Given the description of an element on the screen output the (x, y) to click on. 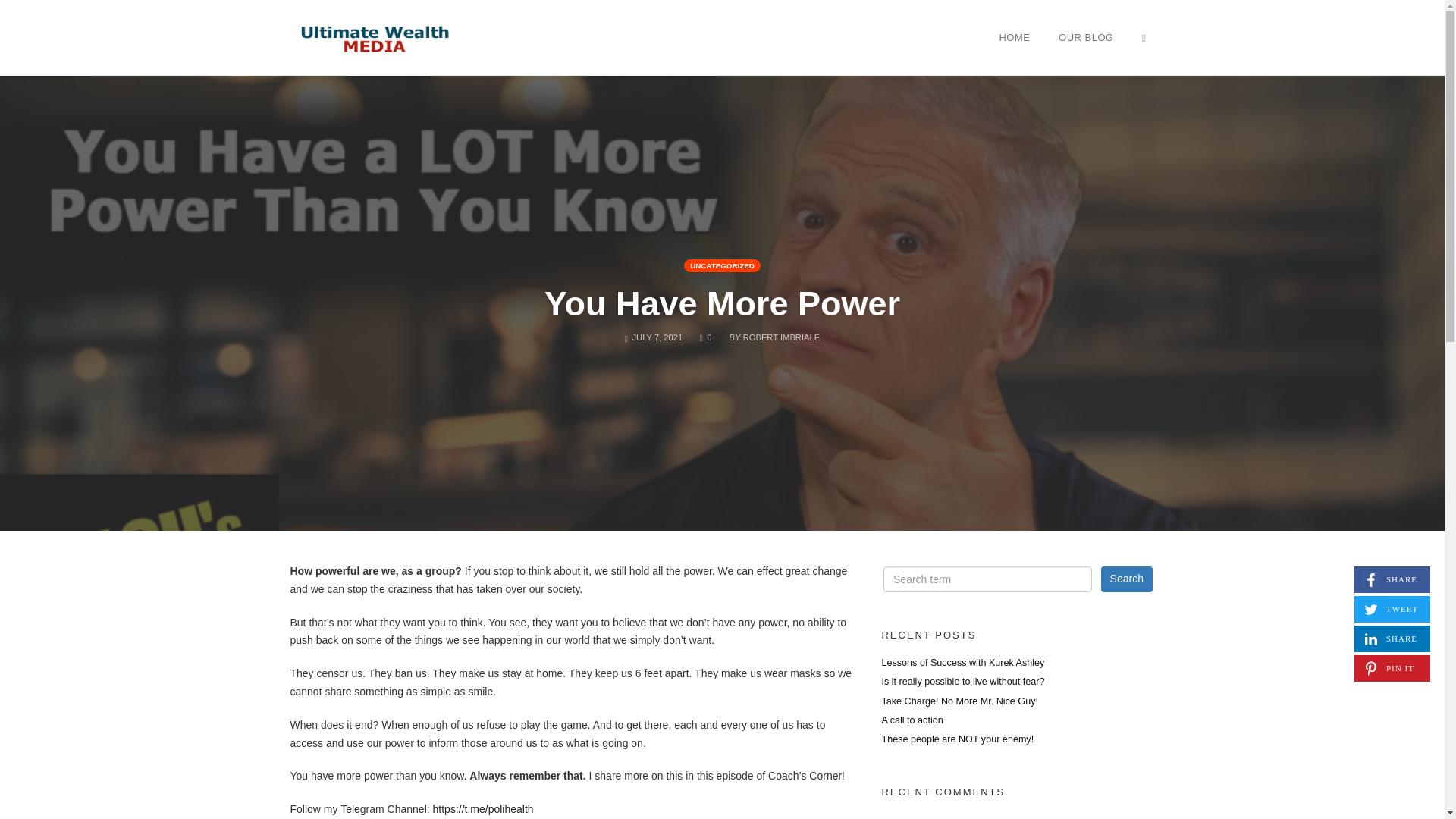
Search (1391, 579)
Ultimate Wealth Media (1126, 579)
Take Charge! No More Mr. Nice Guy! (373, 37)
Lessons of Success with Kurek Ashley (958, 701)
These people are NOT your enemy! (961, 662)
HOME (956, 738)
Is it really possible to live without fear? (1014, 37)
A call to action (961, 681)
OPEN SEARCH FORM (911, 719)
